Given the description of an element on the screen output the (x, y) to click on. 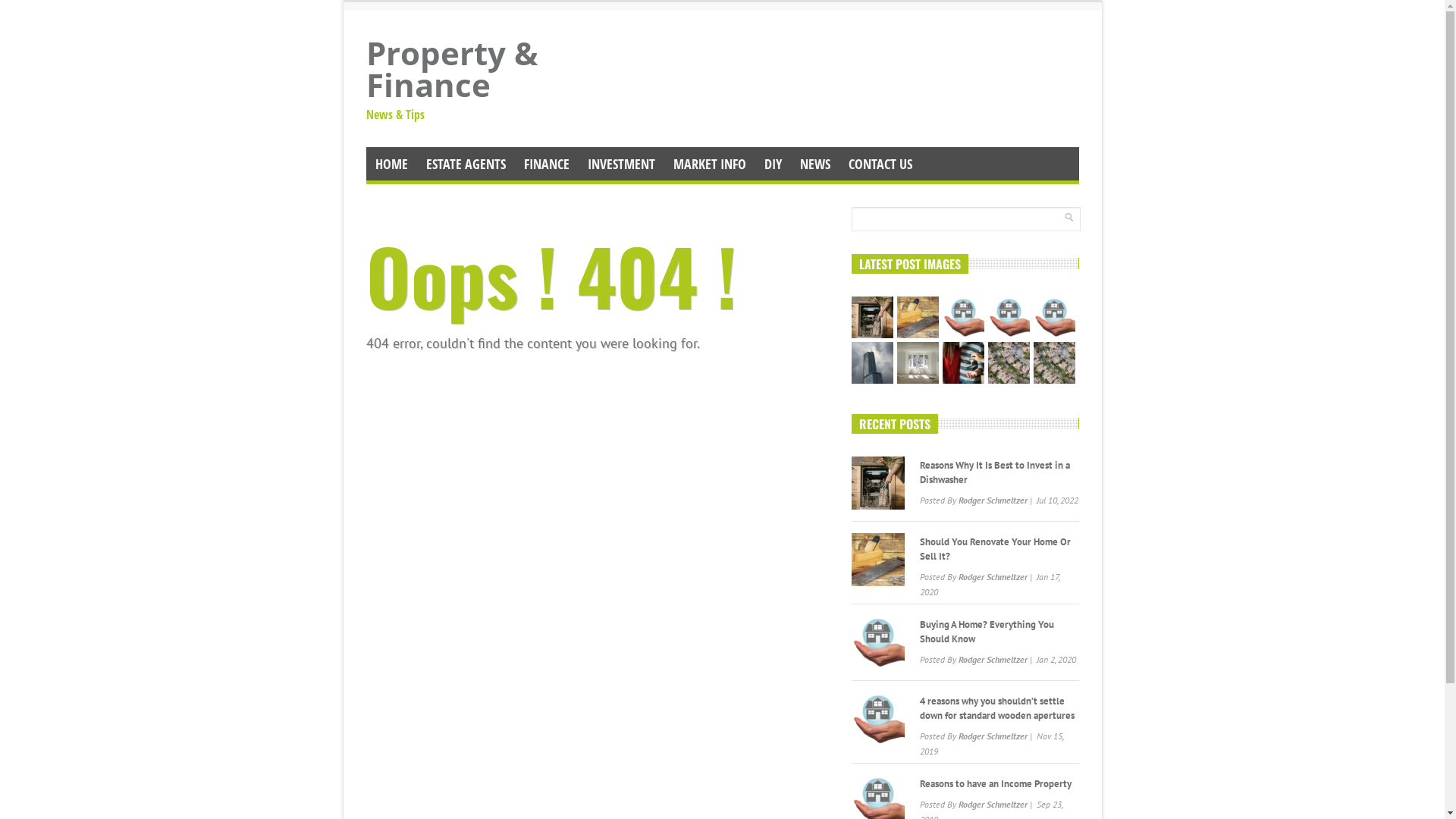
Buying A Home? Everything You Should Know Element type: text (986, 631)
Should You Renovate Your Home Or Sell It? Element type: text (994, 548)
Buying A Home? Everything You Should Know Element type: hover (962, 317)
Reasons Why It Is Best to Invest in a Dishwasher Element type: hover (871, 317)
DIY Element type: text (772, 163)
Reasons to have an Income Property Element type: text (994, 783)
Rodger Schmeltzer Element type: text (992, 576)
MARKET INFO Element type: text (709, 163)
News & Tips Element type: text (479, 110)
How to Take Better Care Of Your House? Element type: hover (917, 362)
Property & Finance Element type: text (479, 68)
Benefits of Choosing a Real Estate Agent to Buy a House Element type: hover (962, 362)
Rodger Schmeltzer Element type: text (992, 659)
HOME Element type: text (390, 163)
NEWS Element type: text (814, 163)
Best Commercial Real Estate Properties to Invest In Element type: hover (1008, 362)
Rodger Schmeltzer Element type: text (992, 735)
Does Your Roof Need Repairs? Element type: hover (1053, 362)
How Did the Sky Scraper Become Colossus? Element type: hover (871, 362)
FINANCE Element type: text (545, 163)
Rodger Schmeltzer Element type: text (992, 803)
Reasons to have an Income Property Element type: hover (1053, 317)
INVESTMENT Element type: text (620, 163)
CONTACT US Element type: text (879, 163)
Should You Renovate Your Home Or Sell It? Element type: hover (917, 317)
ESTATE AGENTS Element type: text (465, 163)
Reasons Why It Is Best to Invest in a Dishwasher Element type: text (994, 472)
Rodger Schmeltzer Element type: text (992, 499)
